Given the description of an element on the screen output the (x, y) to click on. 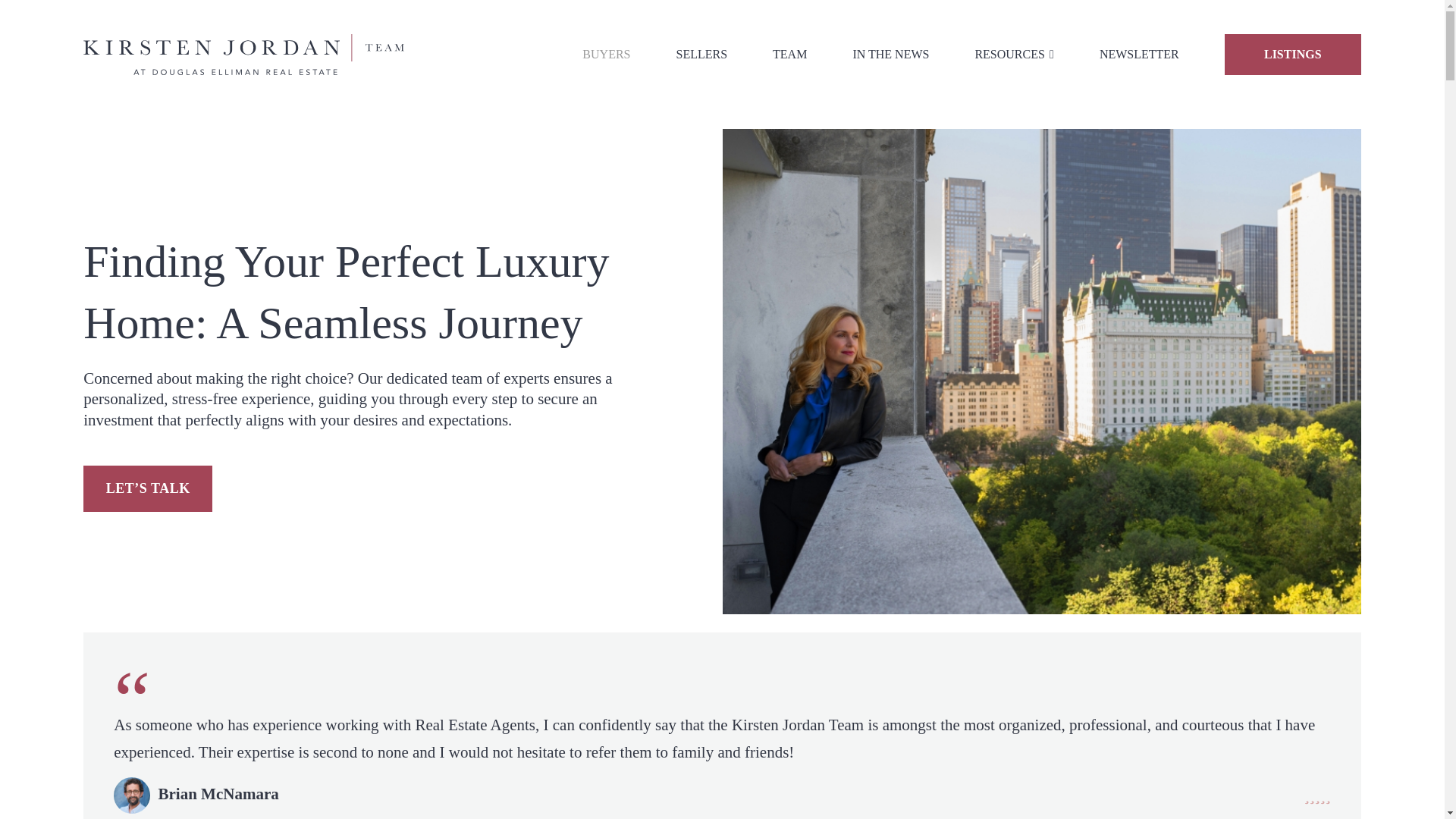
RESOURCES (1013, 53)
LISTINGS (1292, 54)
TEAM (789, 53)
SELLERS (700, 53)
NEWSLETTER (1139, 53)
IN THE NEWS (889, 53)
BUYERS (606, 53)
